Given the description of an element on the screen output the (x, y) to click on. 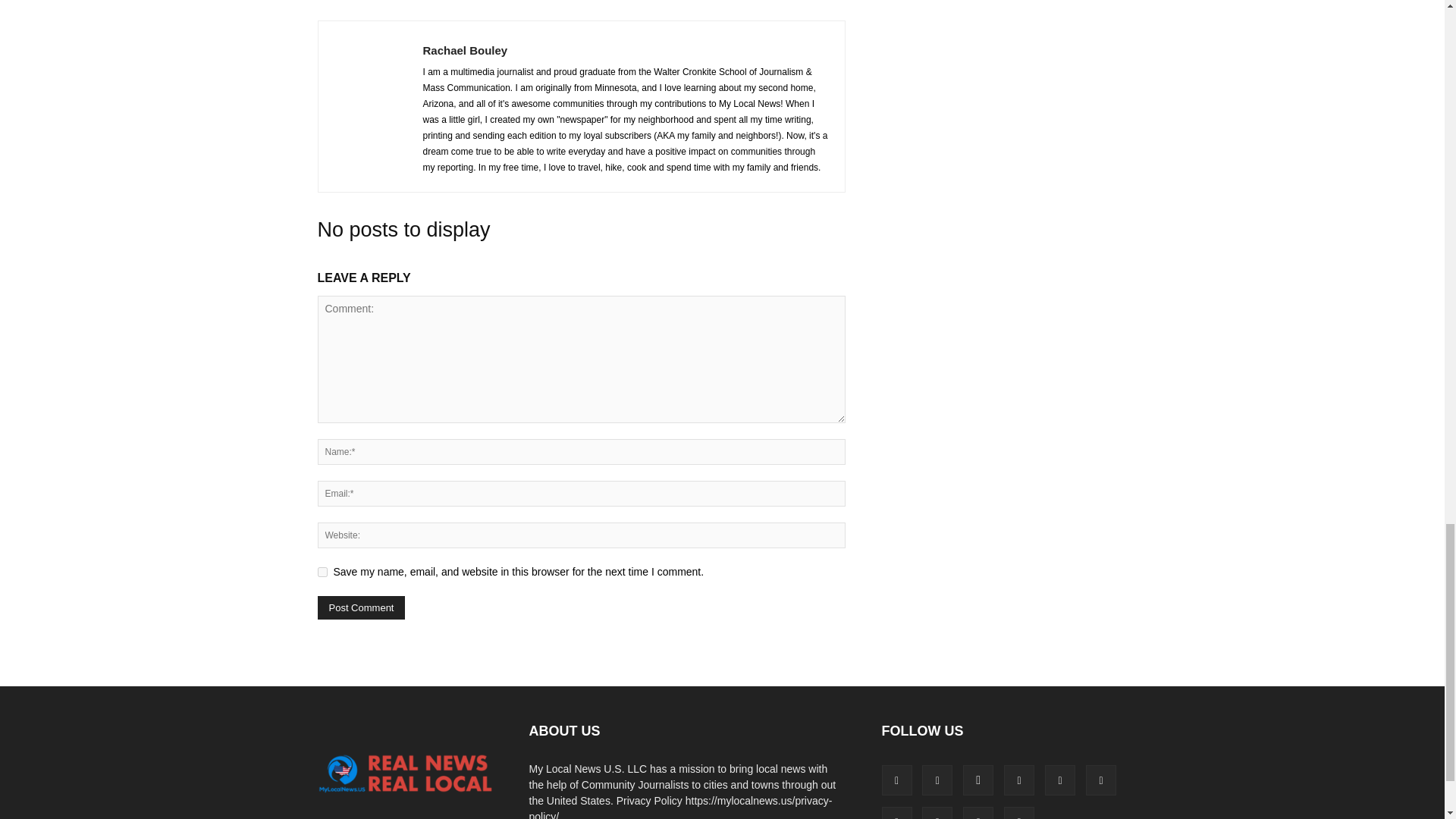
yes (321, 572)
Post Comment (360, 607)
